Given the description of an element on the screen output the (x, y) to click on. 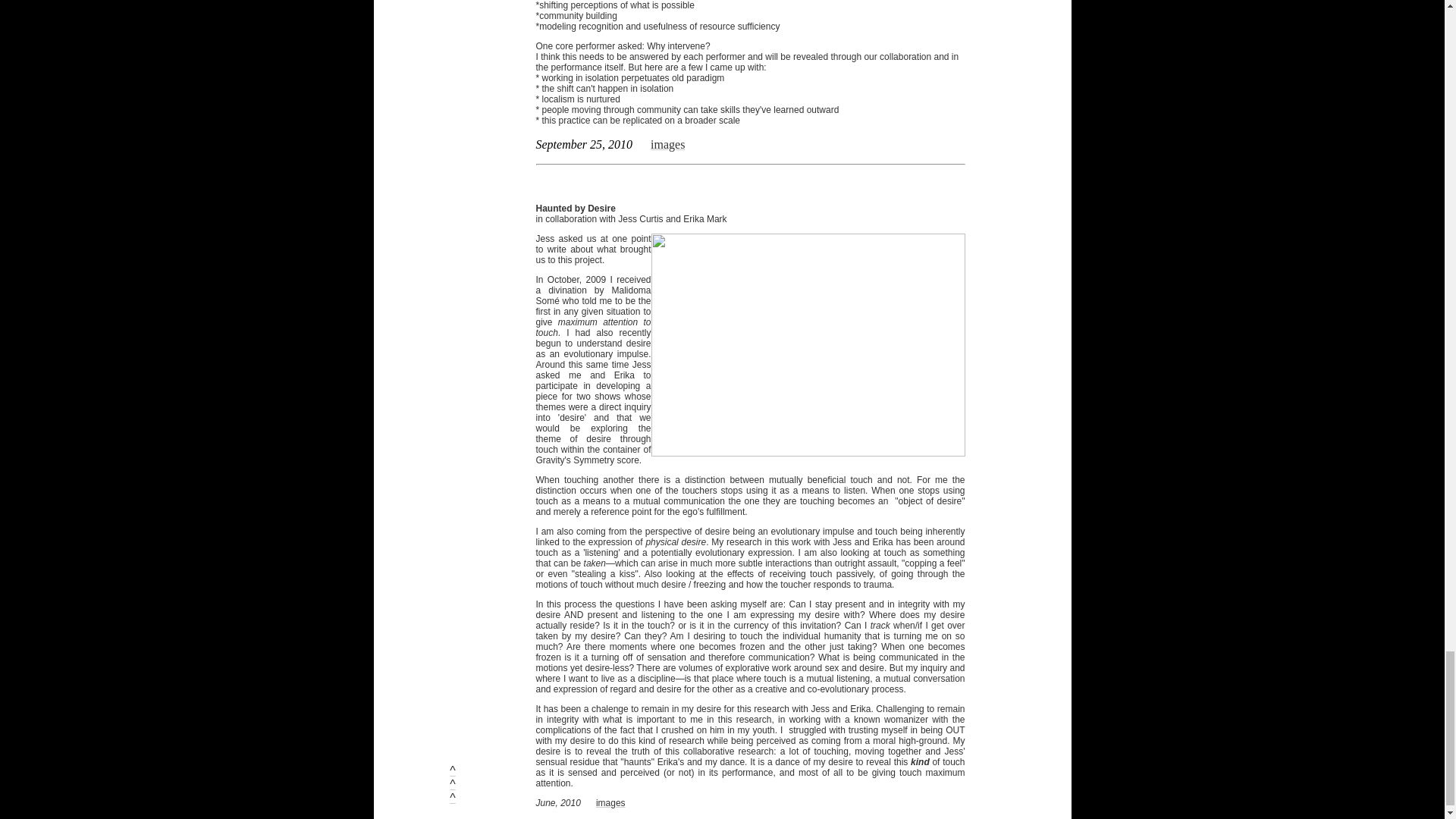
images (667, 144)
images (610, 802)
